Given the description of an element on the screen output the (x, y) to click on. 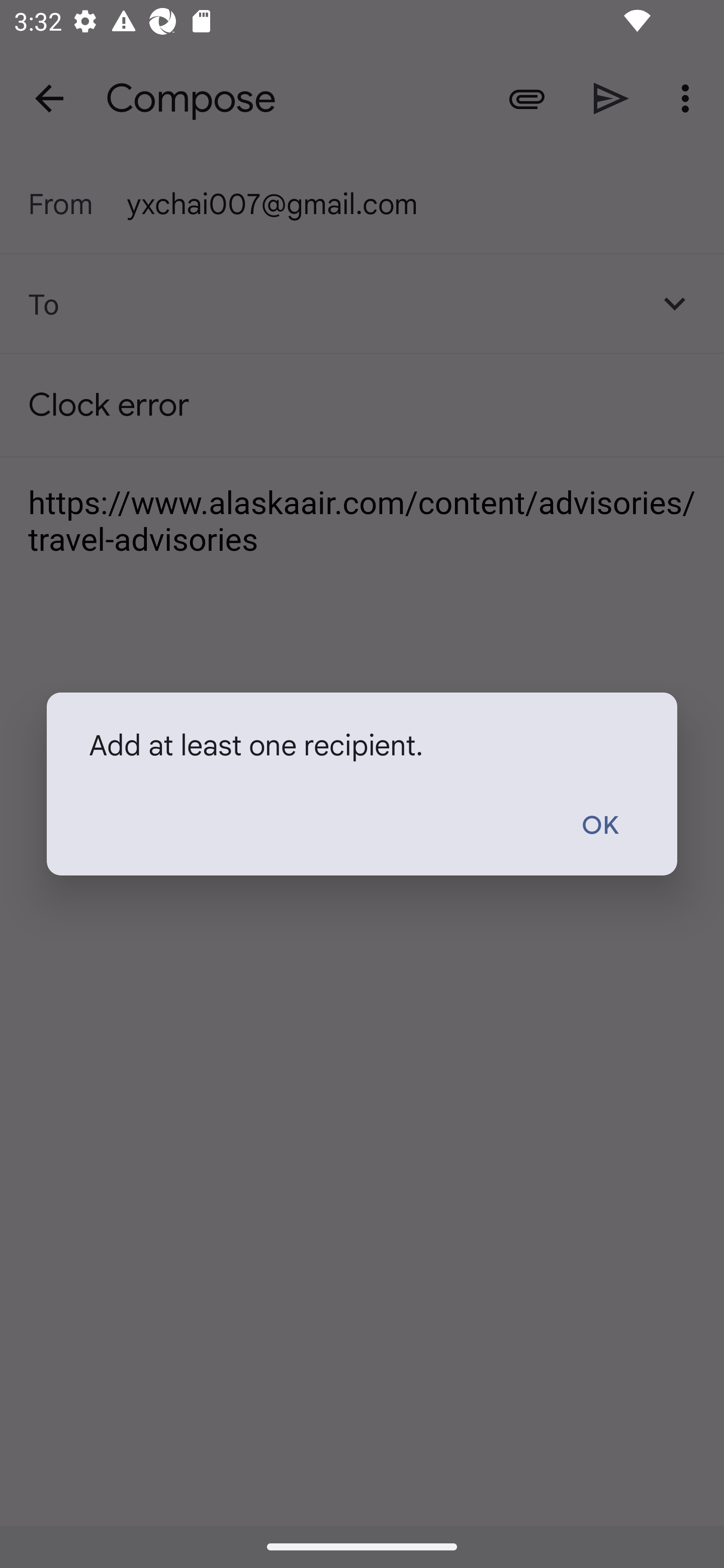
OK (599, 826)
